Given the description of an element on the screen output the (x, y) to click on. 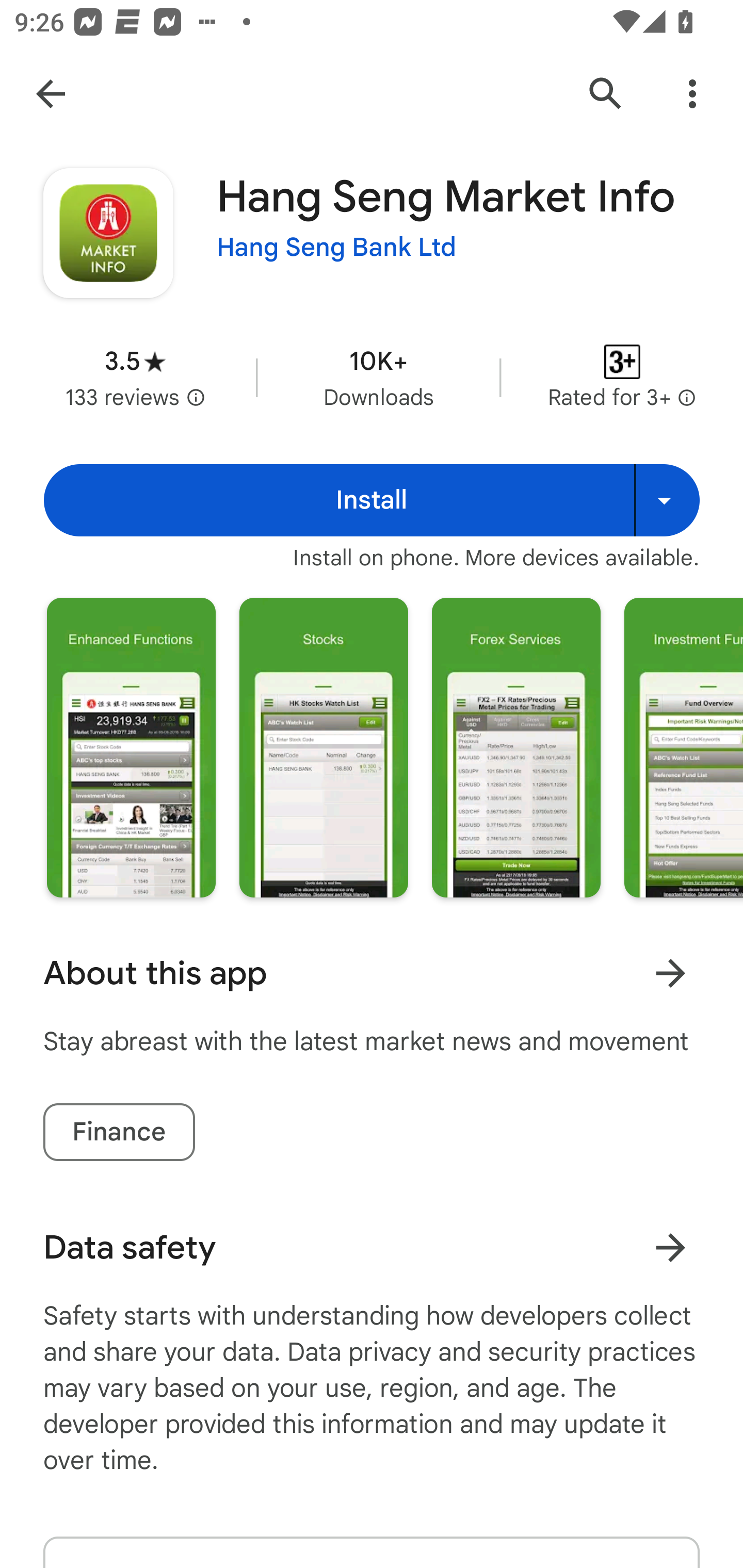
Navigate up (50, 93)
Search Google Play (605, 93)
More Options (692, 93)
Hang Seng Bank Ltd (336, 247)
Average rating 3.5 stars in 133 reviews (135, 377)
Content rating Rated for 3+ (622, 377)
Install Install Install on more devices (371, 500)
Install on more devices (667, 500)
Screenshot "1" of "4" (130, 746)
Screenshot "2" of "4" (323, 746)
Screenshot "3" of "4" (515, 746)
Screenshot "4" of "4" (683, 746)
About this app Learn more About this app (371, 972)
Learn more About this app (670, 972)
Finance tag (118, 1132)
Data safety Learn more about data safety (371, 1247)
Learn more about data safety (670, 1247)
